Given the description of an element on the screen output the (x, y) to click on. 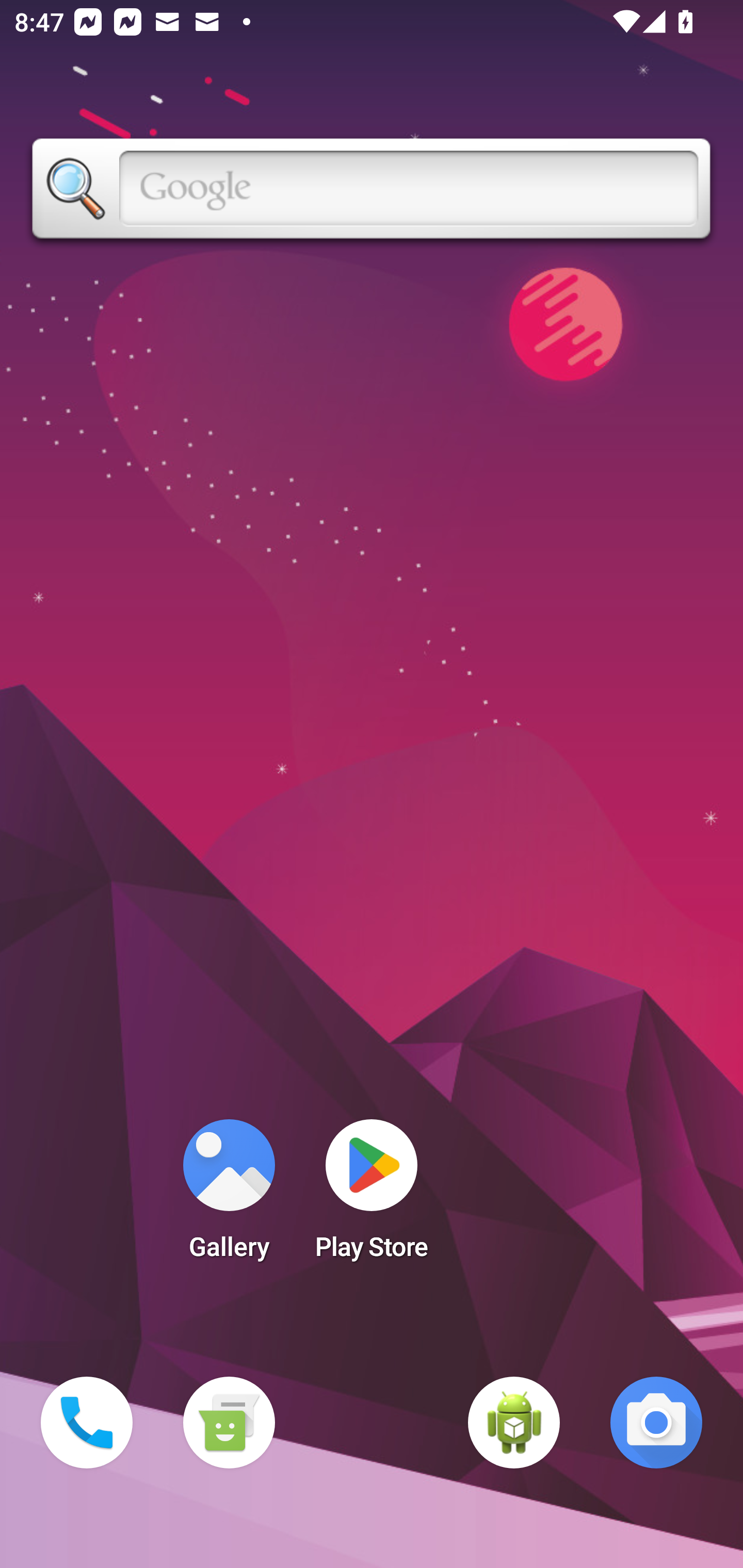
Gallery (228, 1195)
Play Store (371, 1195)
Phone (86, 1422)
Messaging (228, 1422)
WebView Browser Tester (513, 1422)
Camera (656, 1422)
